Given the description of an element on the screen output the (x, y) to click on. 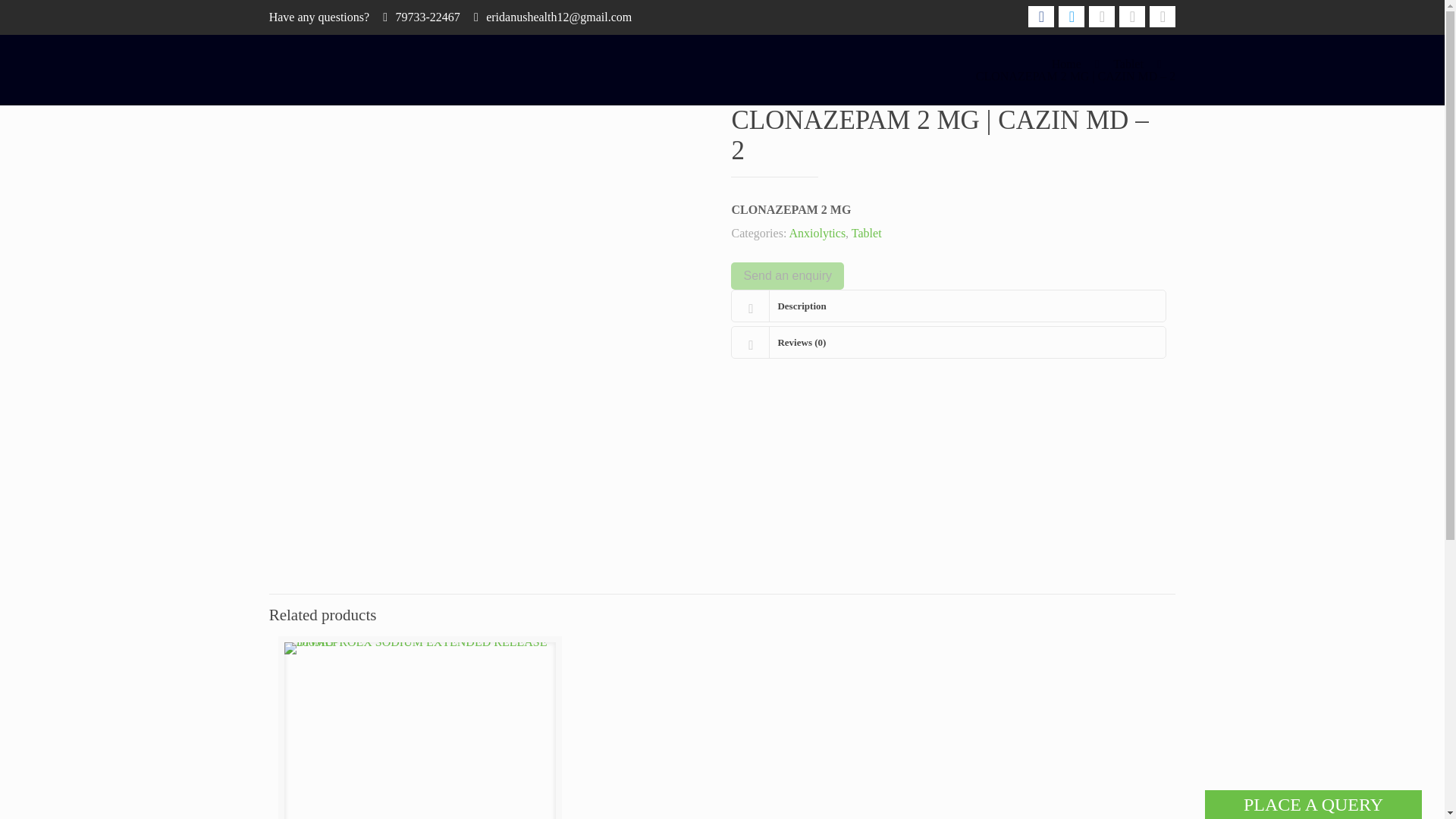
Instagram (1162, 16)
Pinterest (1131, 16)
Facebook (1040, 16)
79733-22467 (427, 16)
LinkedIn (1102, 16)
Twitter (1071, 16)
